Given the description of an element on the screen output the (x, y) to click on. 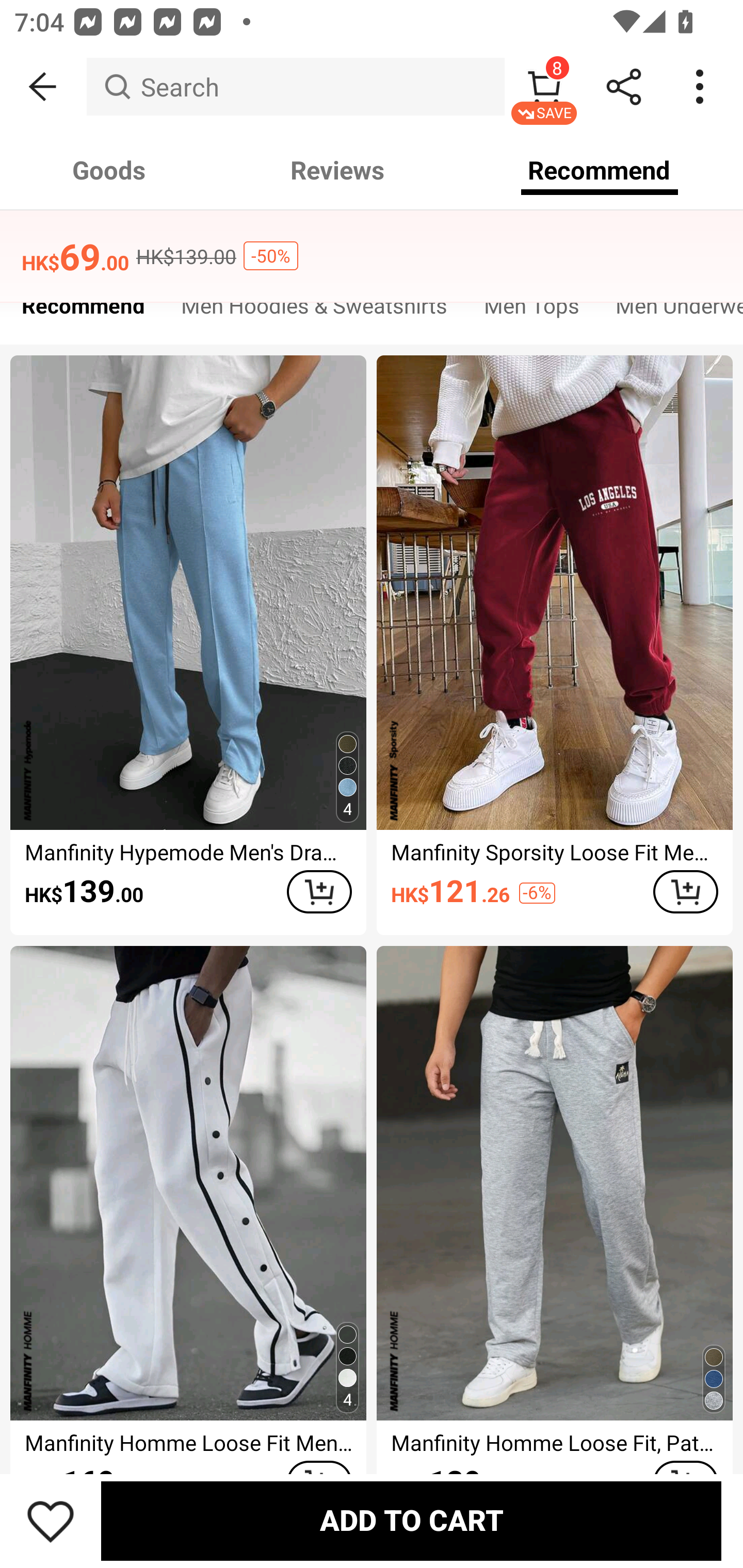
BACK (43, 86)
8 SAVE (543, 87)
Search (295, 87)
Goods (109, 170)
Reviews (337, 170)
Recommend (599, 170)
You May Also Like (371, 244)
Recommend (82, 310)
Men Hoodies & Sweatshirts (313, 310)
Men Tops (531, 310)
Men Underwear Accessories (670, 310)
ADD TO CART (319, 892)
ADD TO CART (685, 892)
ADD TO CART (411, 1520)
Save (50, 1520)
